Given the description of an element on the screen output the (x, y) to click on. 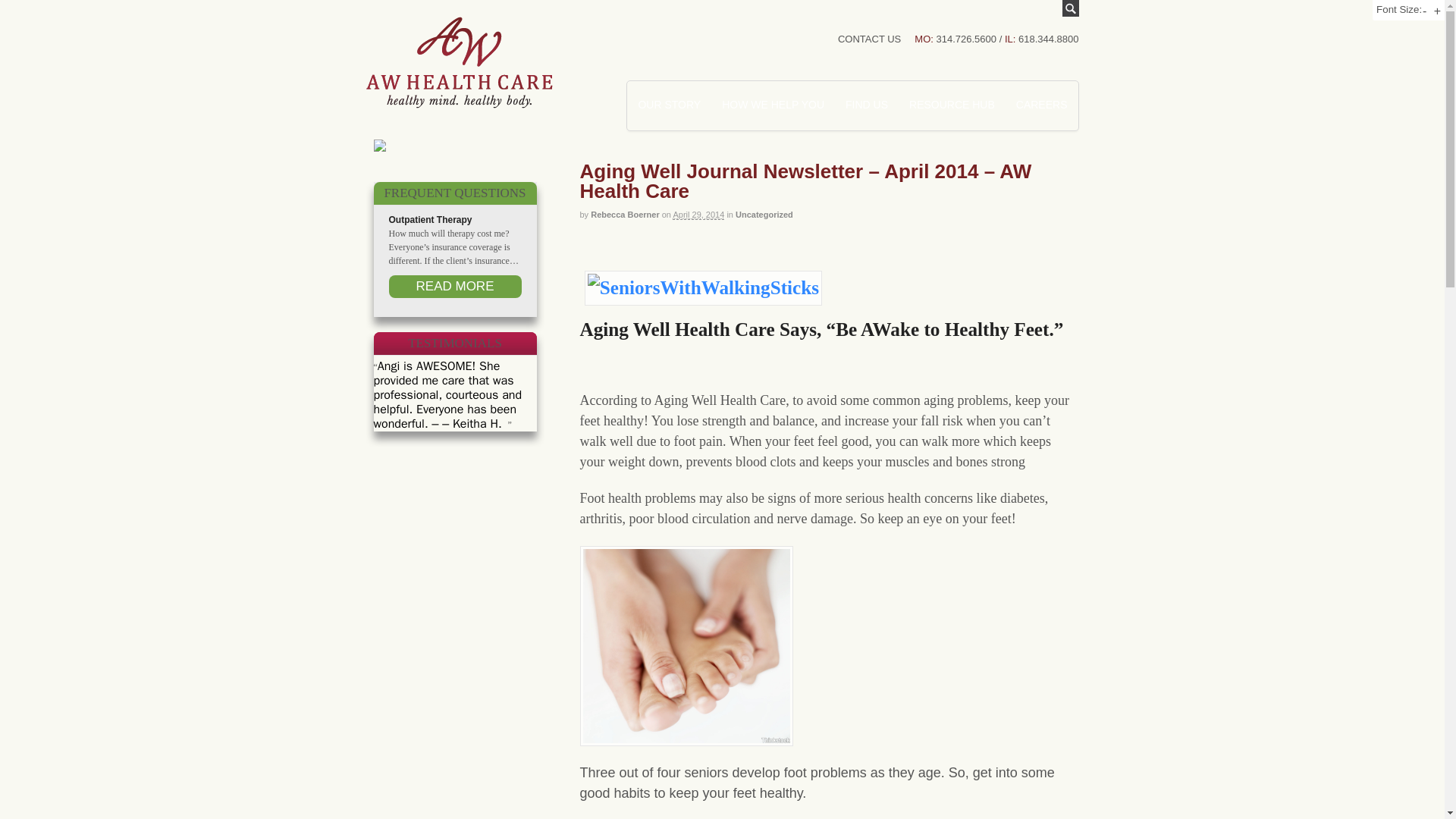
FIND US (866, 104)
OUR STORY (669, 104)
CONTACT US (869, 39)
Rebecca Boerner (625, 214)
Uncategorized (764, 214)
Adjust the font size of the website (1398, 9)
RESOURCE HUB (952, 104)
Healthy mind. Healthy body. (458, 100)
Posts by Rebecca Boerner (625, 214)
CAREERS (1042, 104)
HOW WE HELP YOU (772, 104)
